Given the description of an element on the screen output the (x, y) to click on. 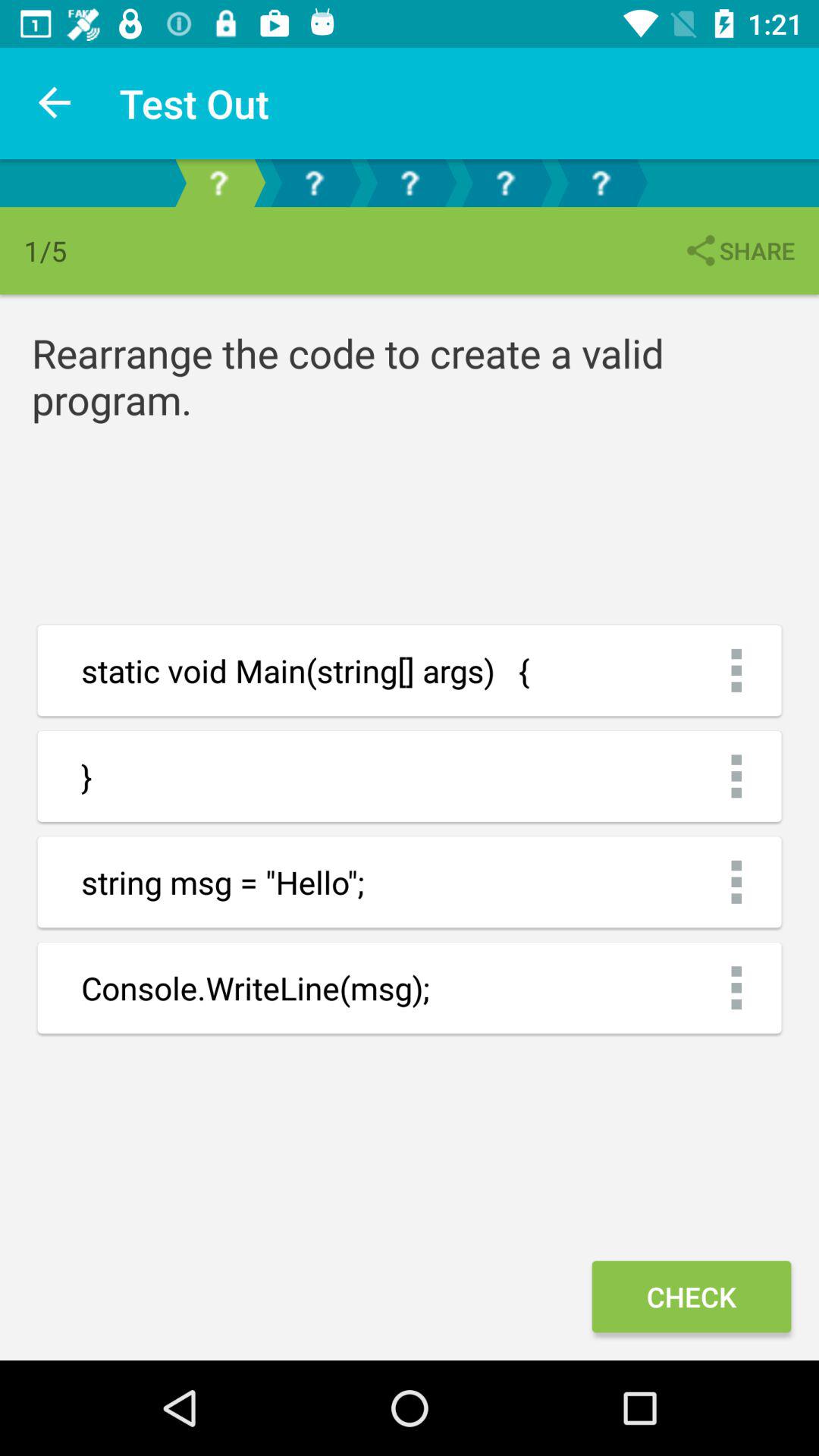
choose the item to the left of test out icon (55, 103)
